Given the description of an element on the screen output the (x, y) to click on. 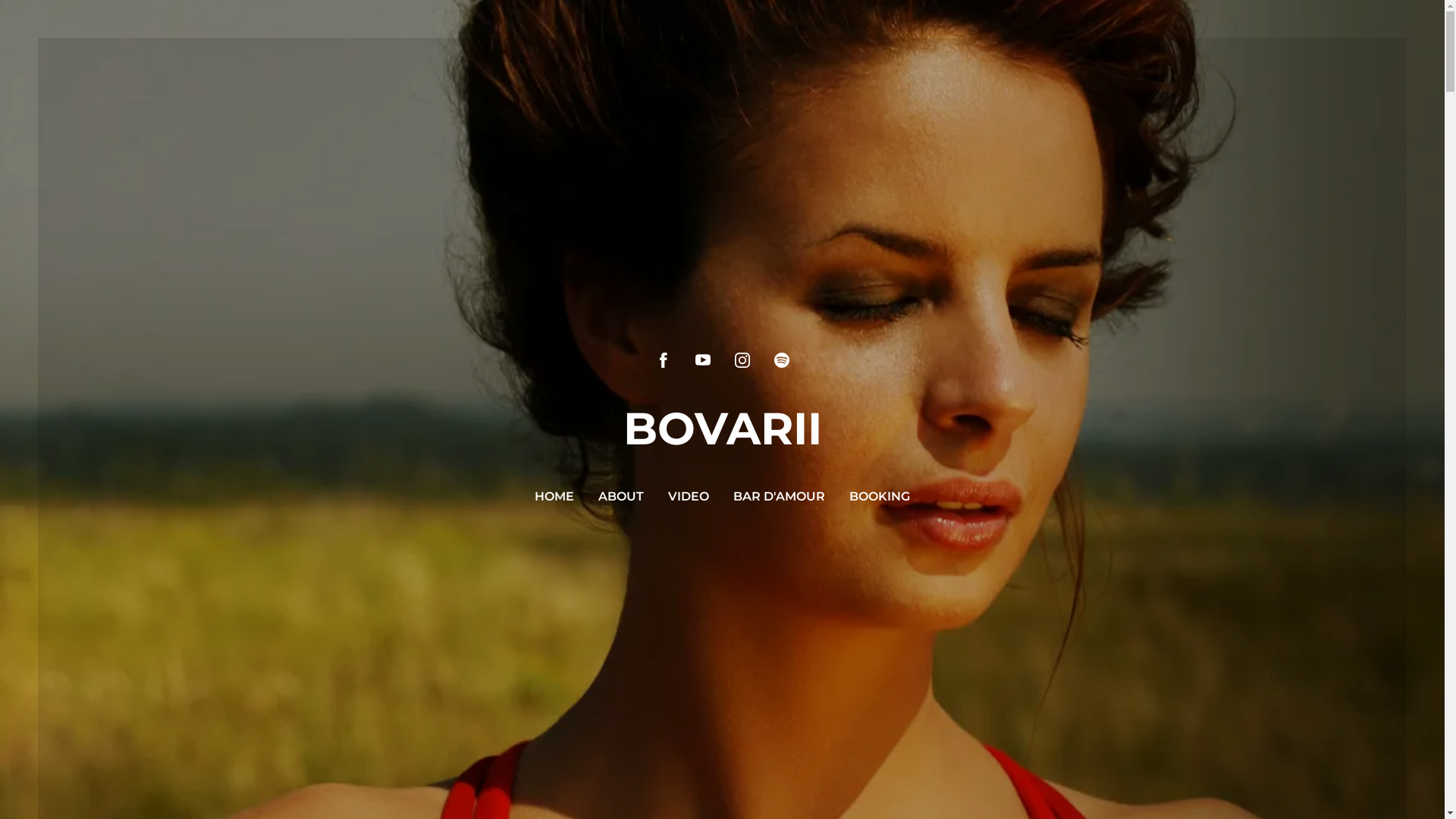
BOOKING Element type: text (879, 496)
HOME Element type: text (554, 496)
https://www.youtube.com/user/Bovarii Element type: hover (701, 359)
BOVARII Element type: text (722, 437)
https://www.facebook.com/karenverresen/ Element type: hover (662, 359)
https://instagram.com/bovarii Element type: hover (741, 359)
VIDEO Element type: text (688, 496)
BAR D'AMOUR Element type: text (779, 496)
ABOUT Element type: text (620, 496)
